Given the description of an element on the screen output the (x, y) to click on. 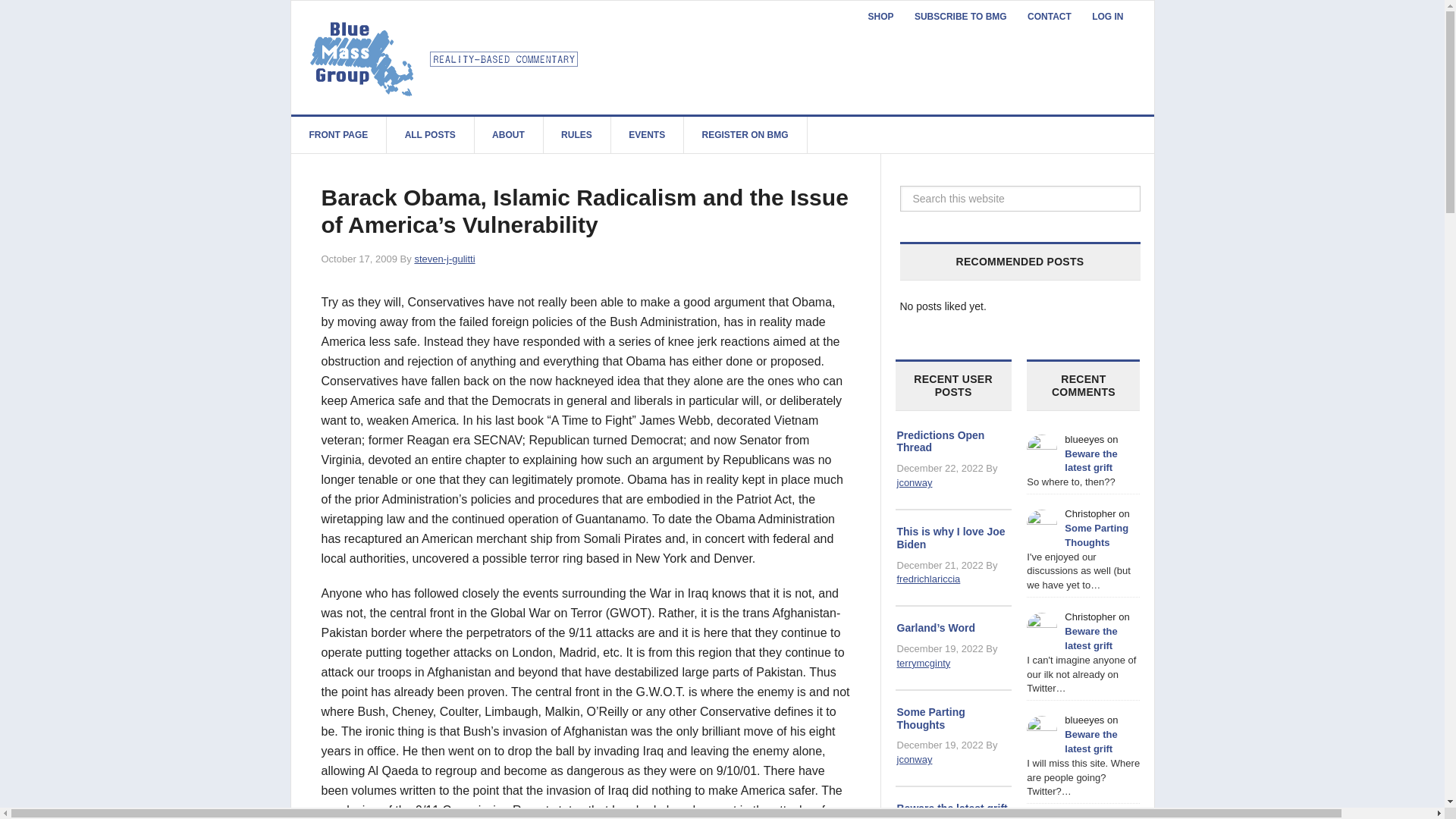
SUBSCRIBE TO BMG (960, 16)
SHOP (880, 16)
This is why I love Joe Biden (950, 537)
Beware the latest grift (951, 808)
fredrichlariccia (927, 578)
terrymcginty (923, 663)
REGISTER ON BMG (744, 135)
jconway (913, 482)
Some Parting Thoughts (1096, 534)
